Given the description of an element on the screen output the (x, y) to click on. 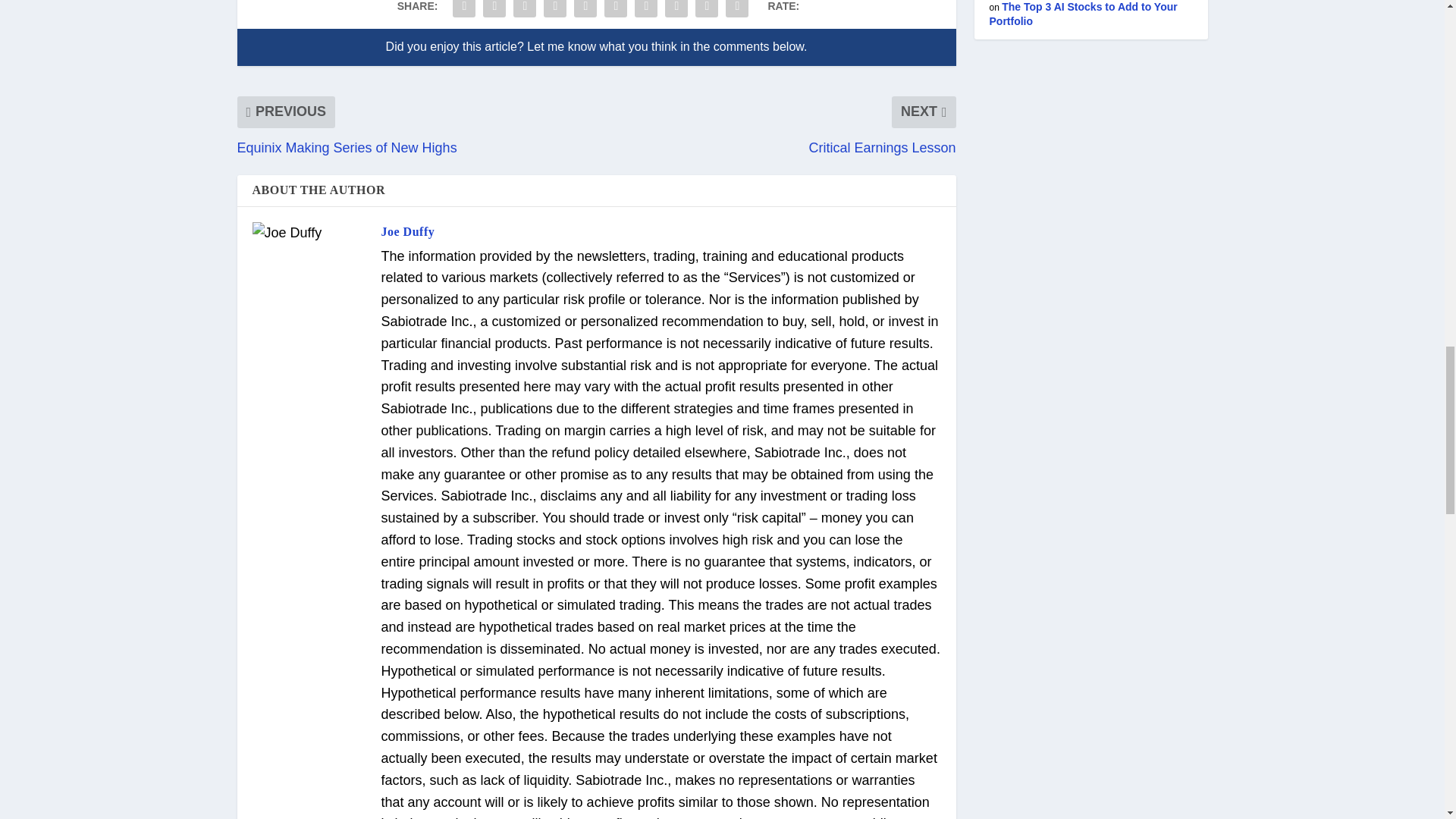
Share "Look At This Bullish Pattern" via Stumbleupon (676, 10)
Share "Look At This Bullish Pattern" via Tumblr (555, 10)
Share "Look At This Bullish Pattern" via Twitter (494, 10)
Share "Look At This Bullish Pattern" via Pinterest (584, 10)
Share "Look At This Bullish Pattern" via Buffer (645, 10)
Share "Look At This Bullish Pattern" via Email (706, 10)
Share "Look At This Bullish Pattern" via Facebook (463, 10)
Share "Look At This Bullish Pattern" via Print (737, 10)
View all posts by Joe Duffy (406, 231)
Joe Duffy (406, 231)
